Given the description of an element on the screen output the (x, y) to click on. 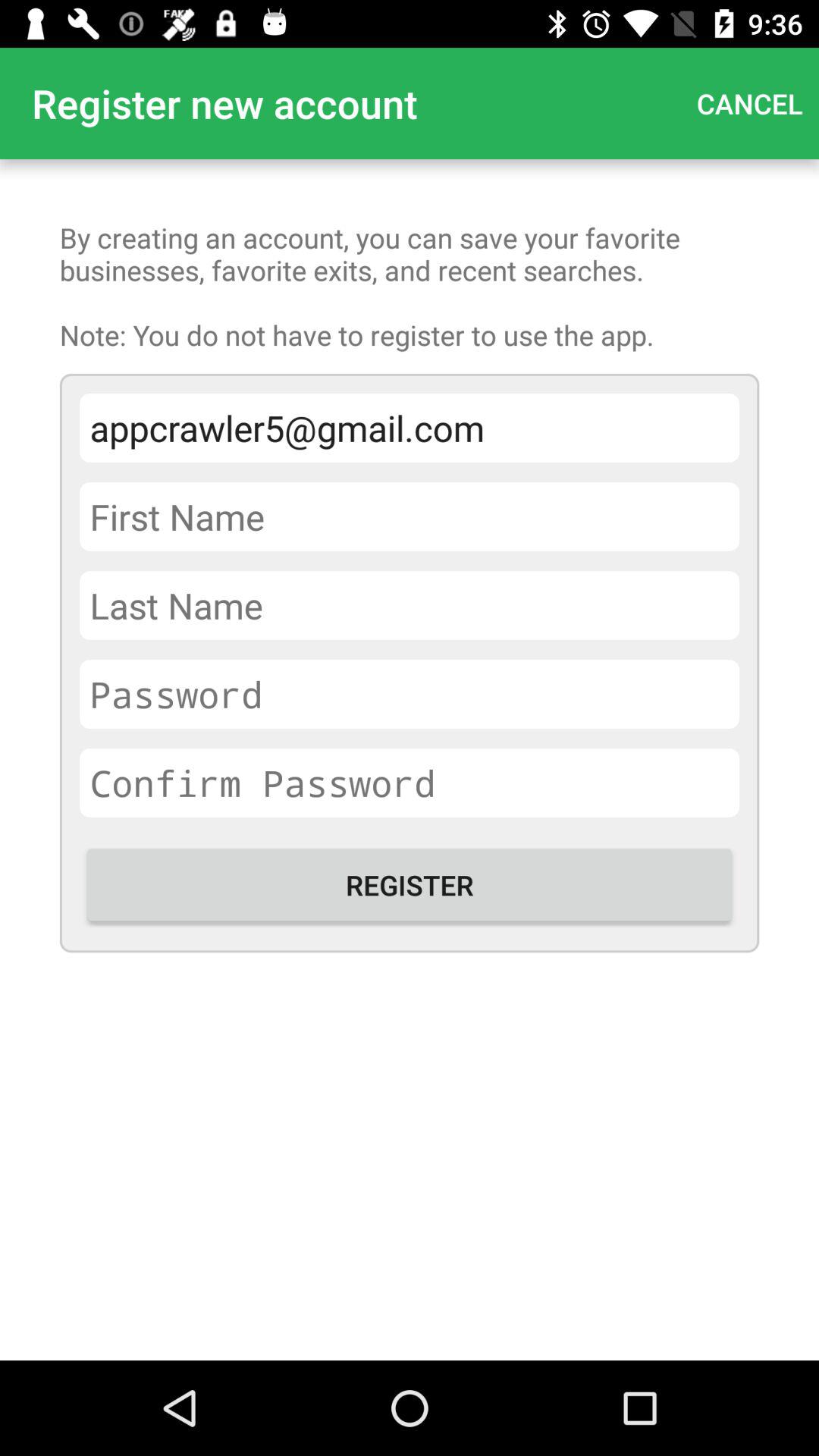
turn off item above by creating an (749, 103)
